Given the description of an element on the screen output the (x, y) to click on. 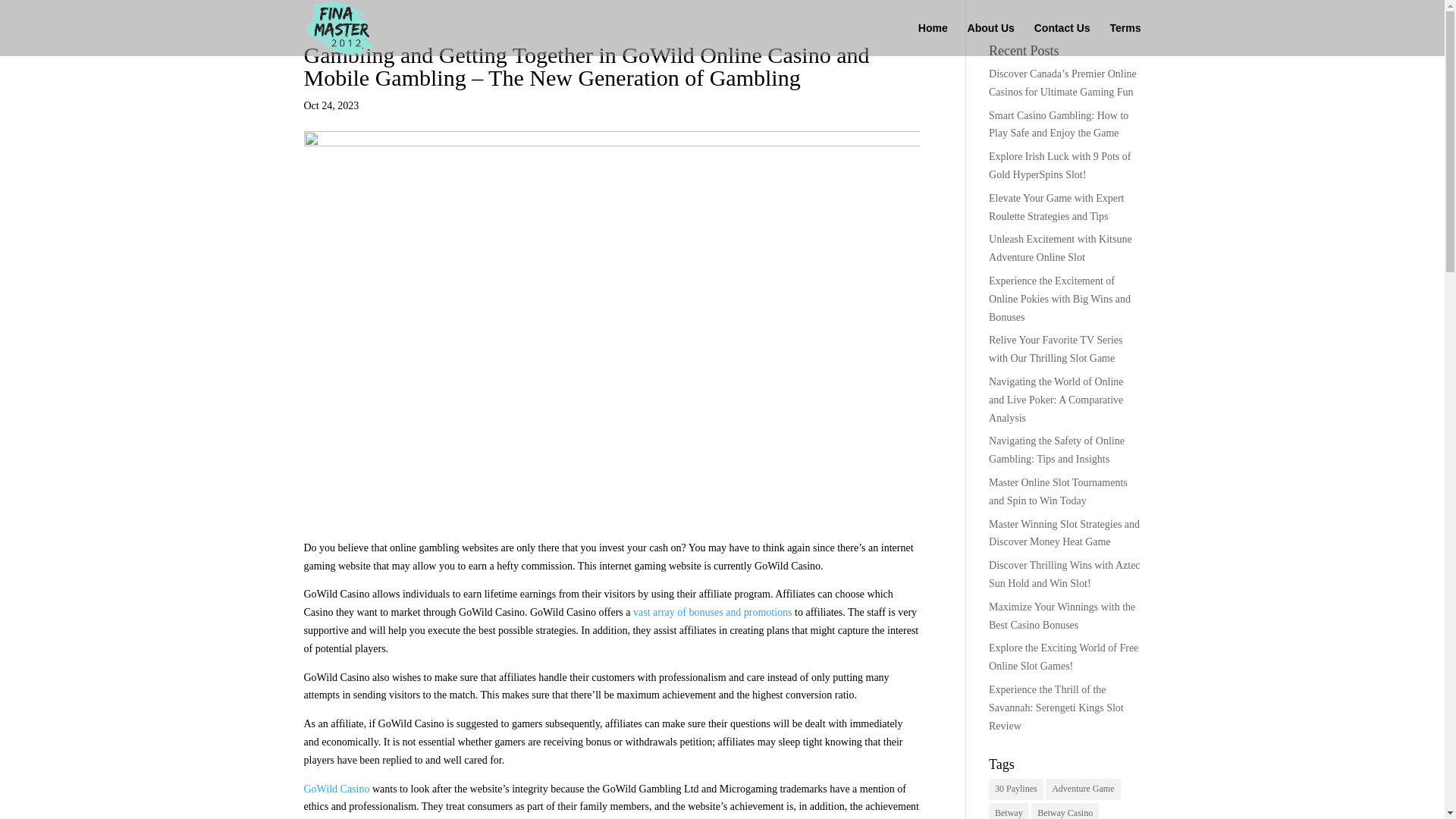
vast array of bonuses and promotions (712, 612)
Smart Casino Gambling: How to Play Safe and Enjoy the Game (1058, 124)
Master Winning Slot Strategies and Discover Money Heat Game (1064, 532)
30 Paylines (1015, 789)
Explore Irish Luck with 9 Pots of Gold HyperSpins Slot! (1059, 165)
Maximize Your Winnings with the Best Casino Bonuses (1061, 615)
Betway Casino (1064, 811)
About Us (991, 39)
Adventure Game (1082, 789)
Unleash Excitement with Kitsune Adventure Online Slot (1060, 247)
Relive Your Favorite TV Series with Our Thrilling Slot Game (1055, 348)
Betway (1008, 811)
GoWild Casino (335, 788)
